Given the description of an element on the screen output the (x, y) to click on. 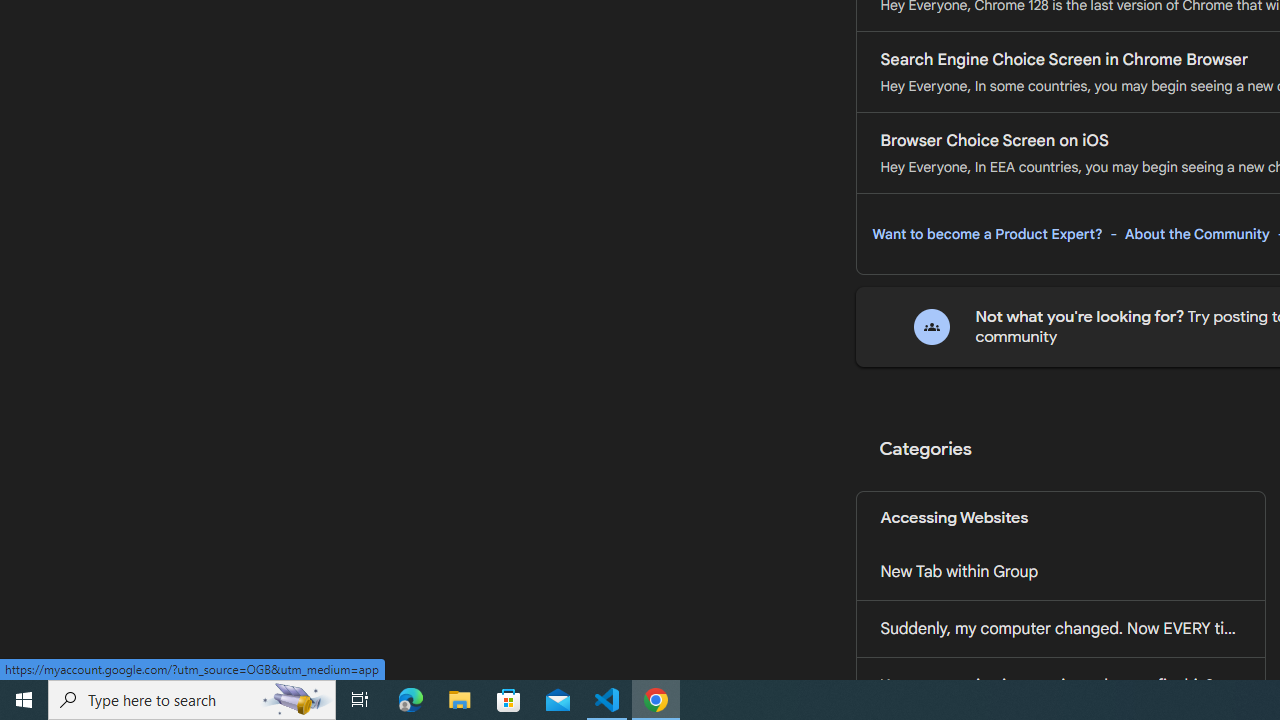
About the Community (1197, 233)
Want to become a Product Expert? (987, 233)
